Given the description of an element on the screen output the (x, y) to click on. 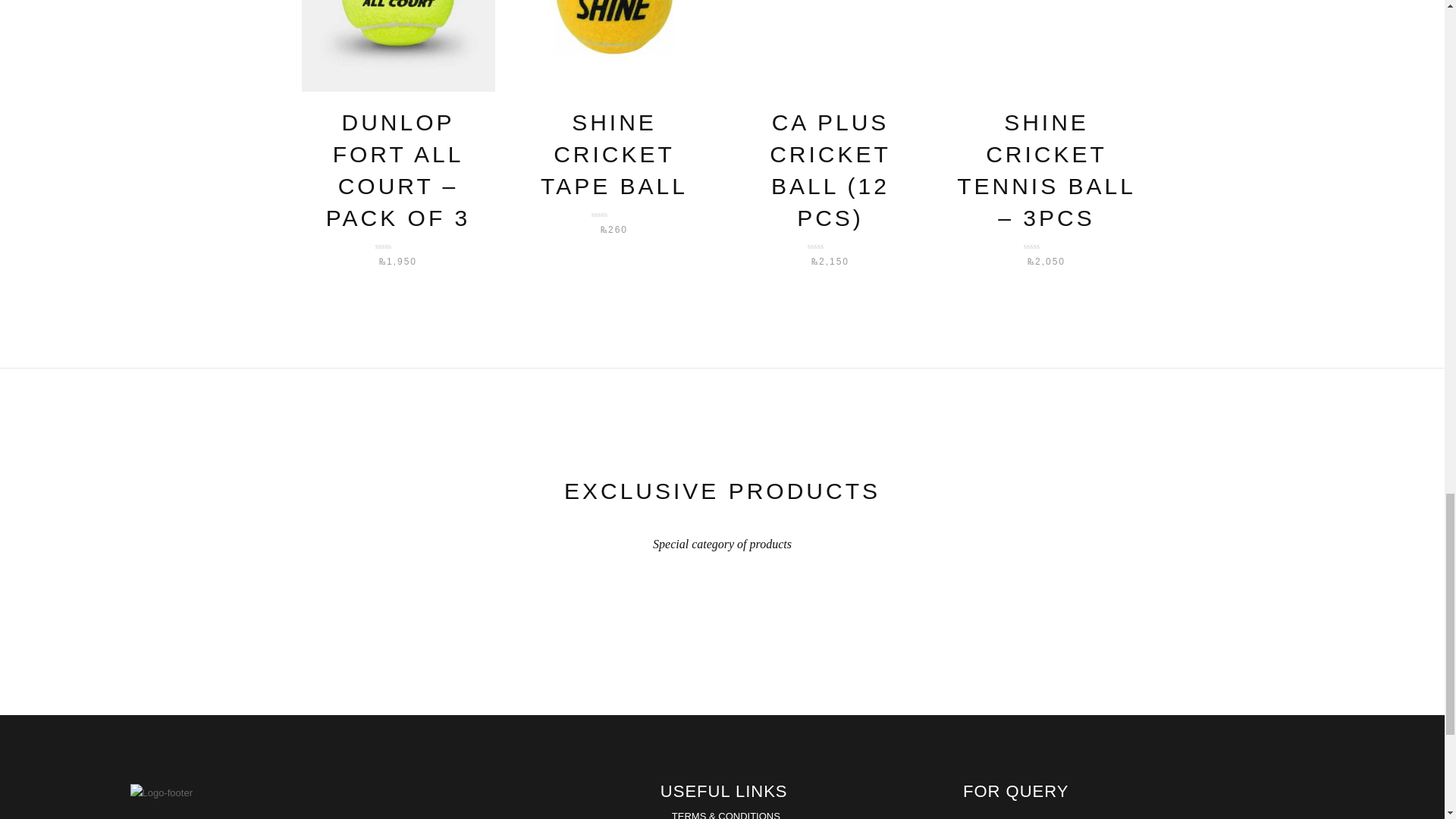
Logo-footer (162, 792)
